Given the description of an element on the screen output the (x, y) to click on. 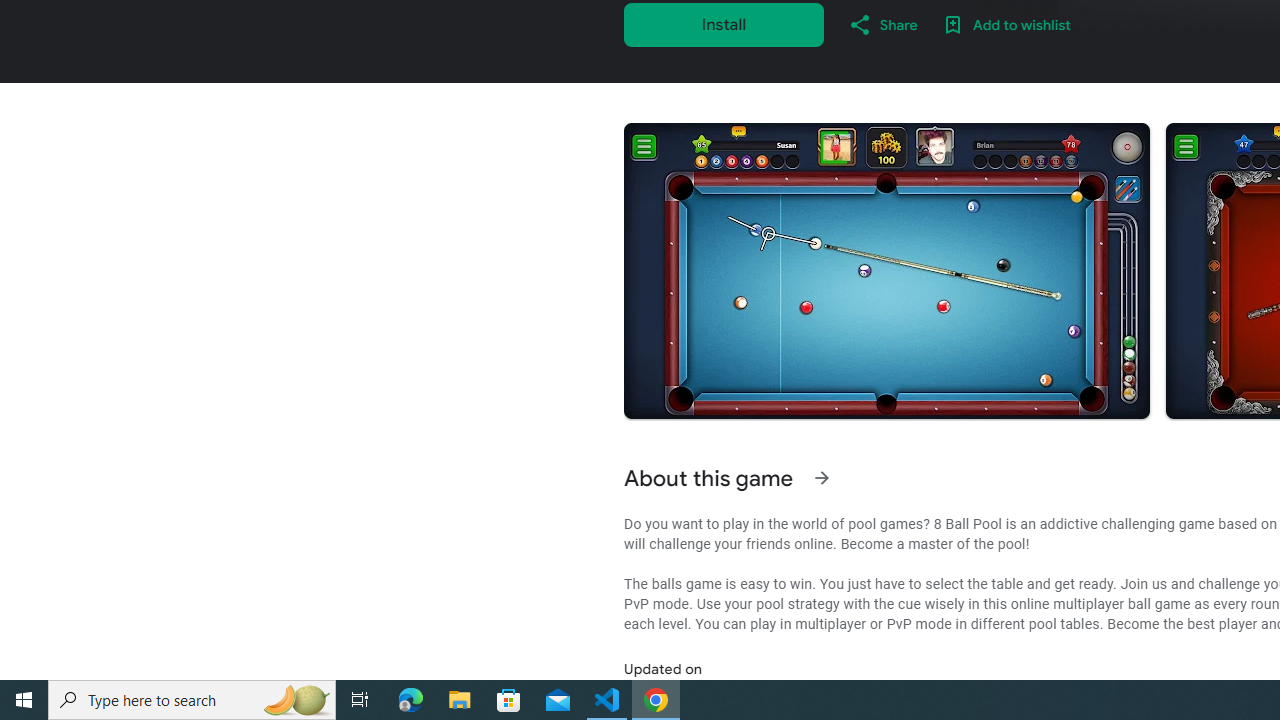
Add to wishlist (1006, 24)
Share (881, 24)
Screenshot image (886, 271)
See more information on About this game (821, 477)
Install (723, 24)
